Given the description of an element on the screen output the (x, y) to click on. 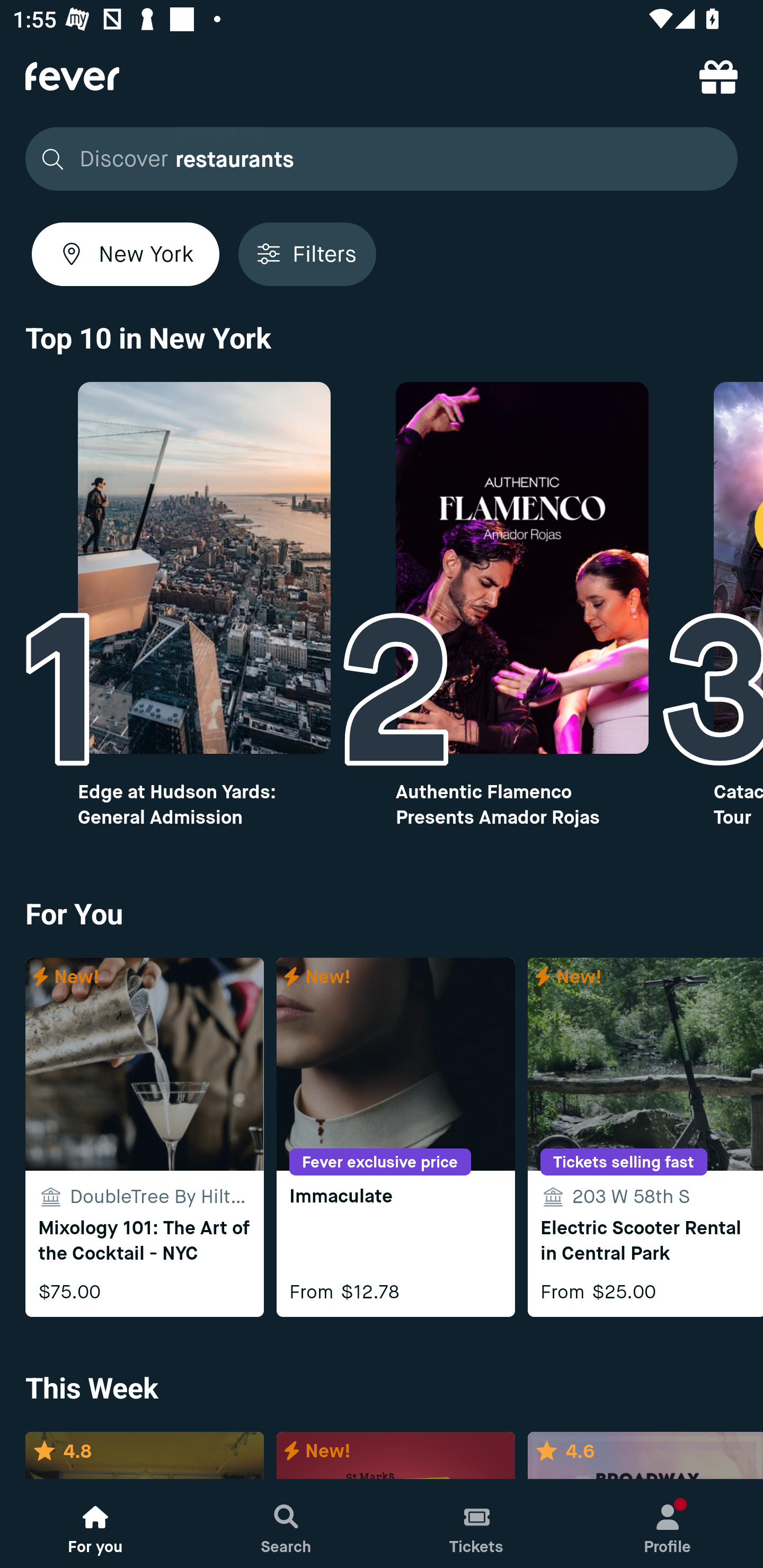
referral (718, 75)
Discover concerts restaurants (381, 158)
Discover concerts restaurants (376, 158)
New York (125, 253)
Filters (307, 253)
Top10 image (203, 568)
Top10 image (521, 568)
Search (285, 1523)
Tickets (476, 1523)
Profile, New notification Profile (667, 1523)
